Given the description of an element on the screen output the (x, y) to click on. 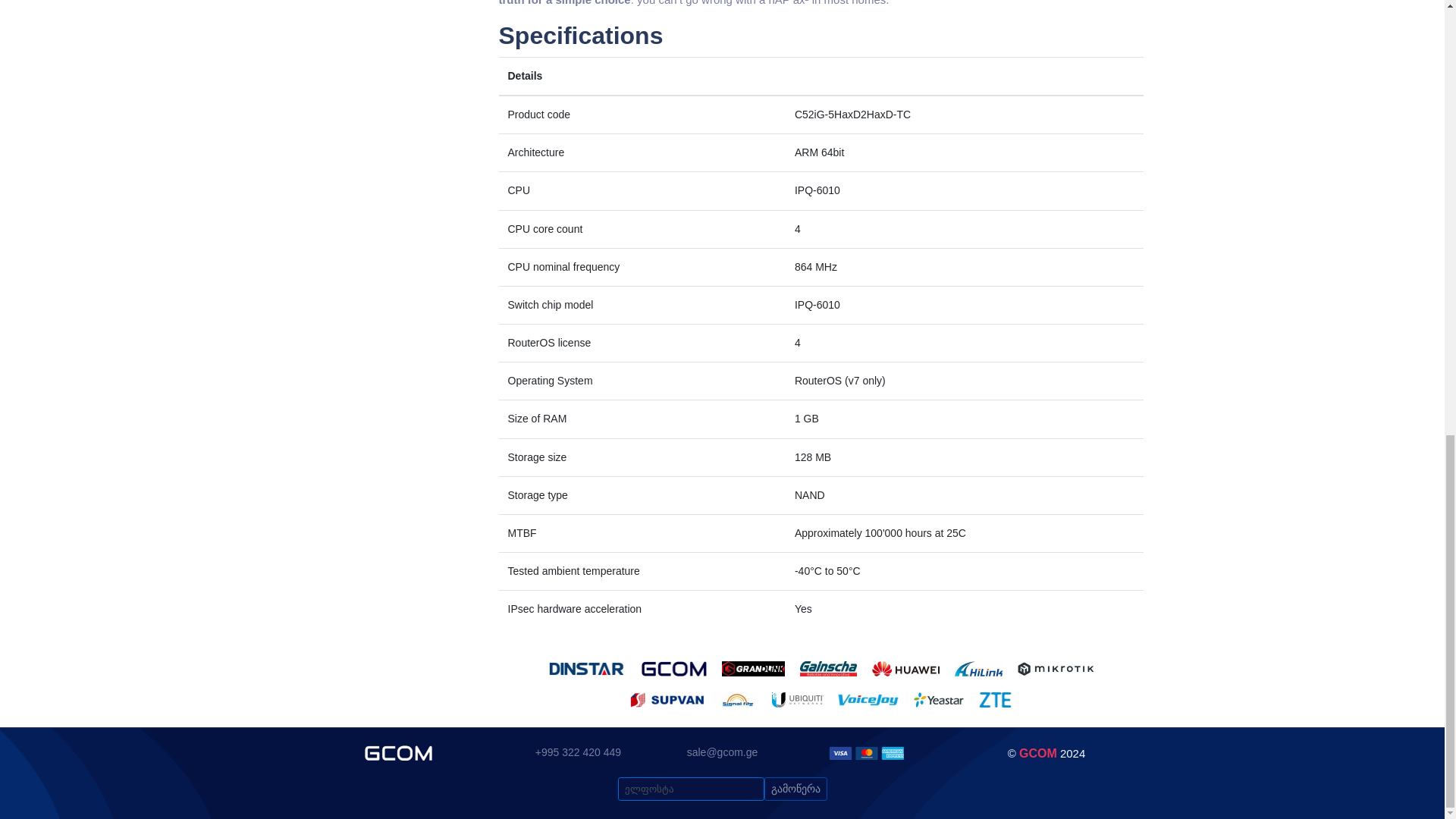
HUAWEI (905, 668)
HiLink (979, 668)
Gainscha (828, 668)
DINSTAR (586, 668)
GRANDLiNK (753, 668)
MikroTik (1055, 668)
VoiceJoy (868, 699)
UBIQUITI (797, 699)
Yeastar (938, 699)
ZTE (994, 699)
Signal Fire (738, 699)
SUPVAN (667, 699)
GCOM (674, 668)
